Given the description of an element on the screen output the (x, y) to click on. 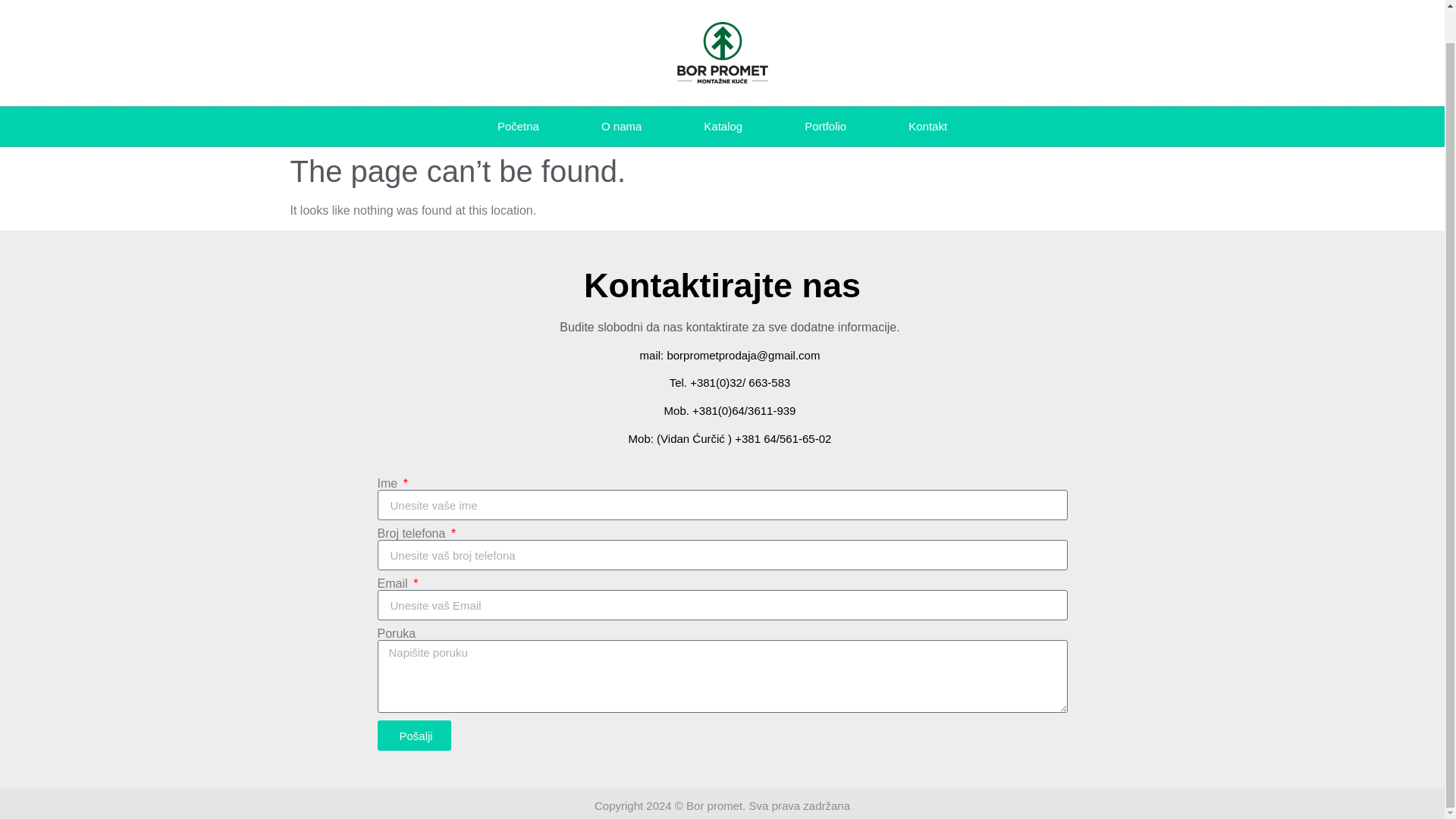
O nama (621, 126)
Kontakt (927, 126)
Katalog (722, 126)
Portfolio (825, 126)
